Given the description of an element on the screen output the (x, y) to click on. 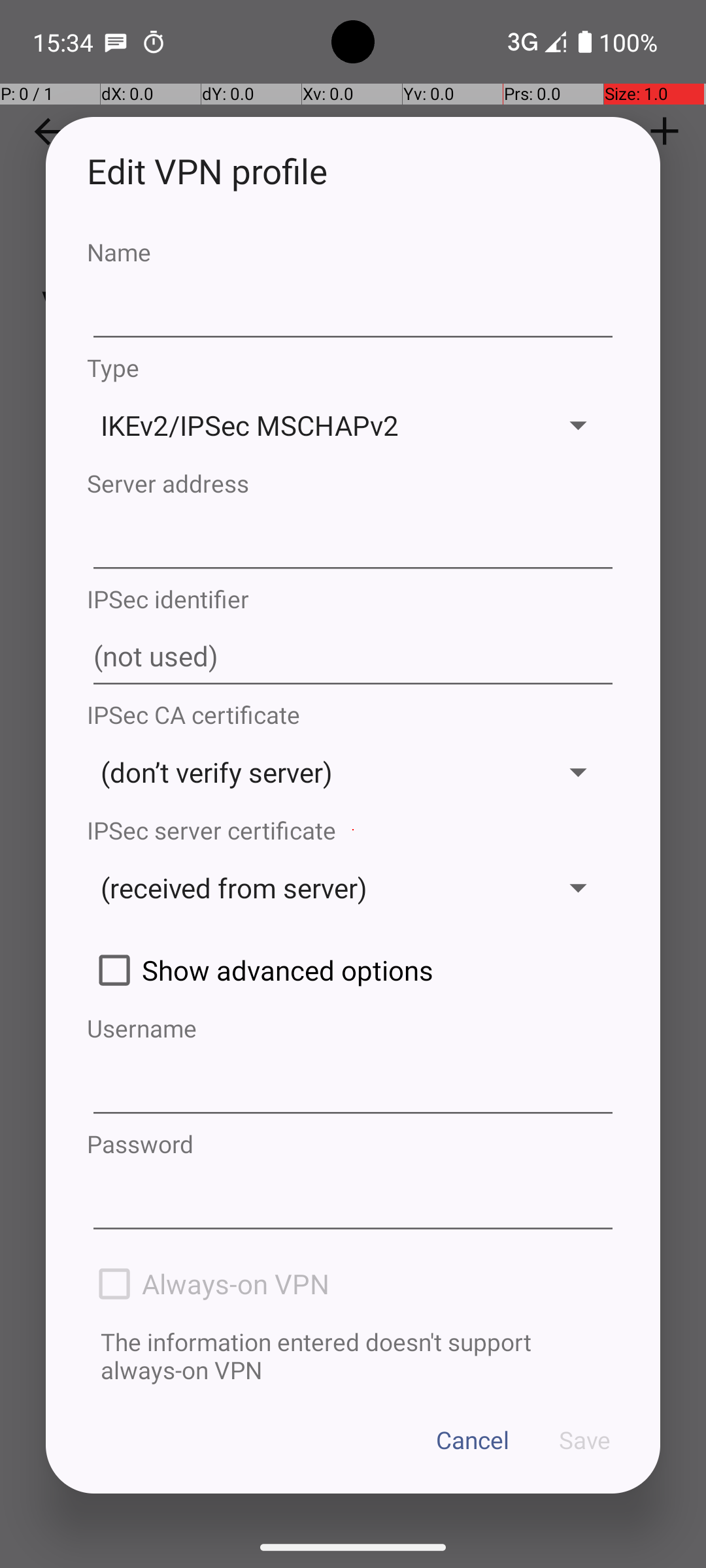
Edit VPN profile Element type: android.widget.TextView (352, 170)
Server address Element type: android.widget.TextView (352, 482)
IPSec identifier Element type: android.widget.TextView (352, 598)
(not used) Element type: android.widget.EditText (352, 656)
IPSec CA certificate Element type: android.widget.TextView (352, 714)
IPSec server certificate Element type: android.widget.TextView (352, 829)
Show advanced options Element type: android.widget.CheckBox (352, 970)
Username Element type: android.widget.TextView (352, 1027)
Password Element type: android.widget.TextView (352, 1143)
Always-on VPN Element type: android.widget.CheckBox (352, 1283)
The information entered doesn't support always-on VPN Element type: android.widget.TextView (352, 1355)
IKEv2/IPSec MSCHAPv2 Element type: android.widget.TextView (311, 424)
(don’t verify server) Element type: android.widget.TextView (311, 771)
(received from server) Element type: android.widget.TextView (311, 887)
